Given the description of an element on the screen output the (x, y) to click on. 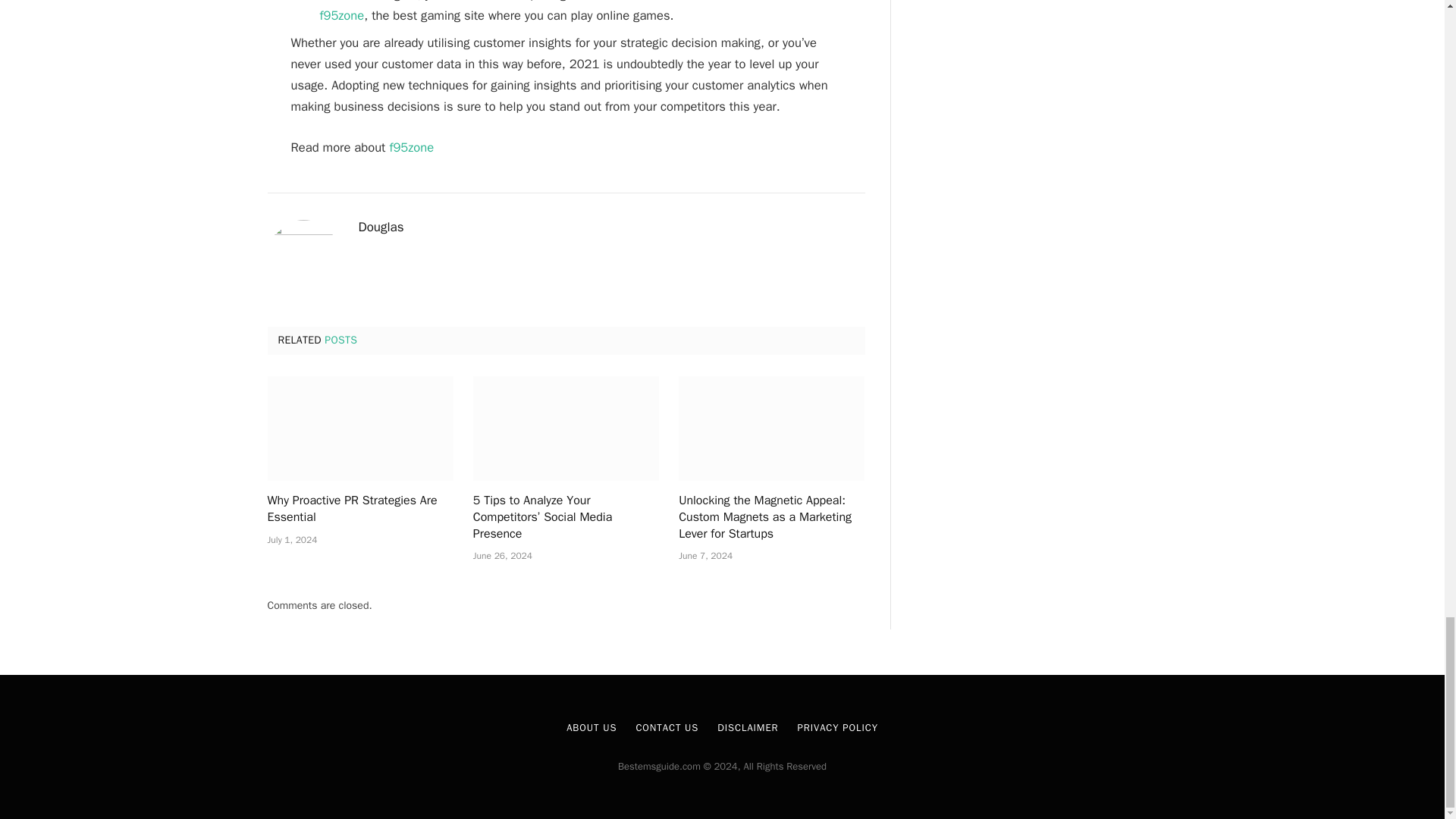
Douglas (380, 227)
f95zone (342, 15)
Why Proactive PR Strategies Are Essential (359, 427)
f95zone (409, 147)
Posts by Douglas (380, 227)
Why Proactive PR Strategies Are Essential (359, 509)
